Given the description of an element on the screen output the (x, y) to click on. 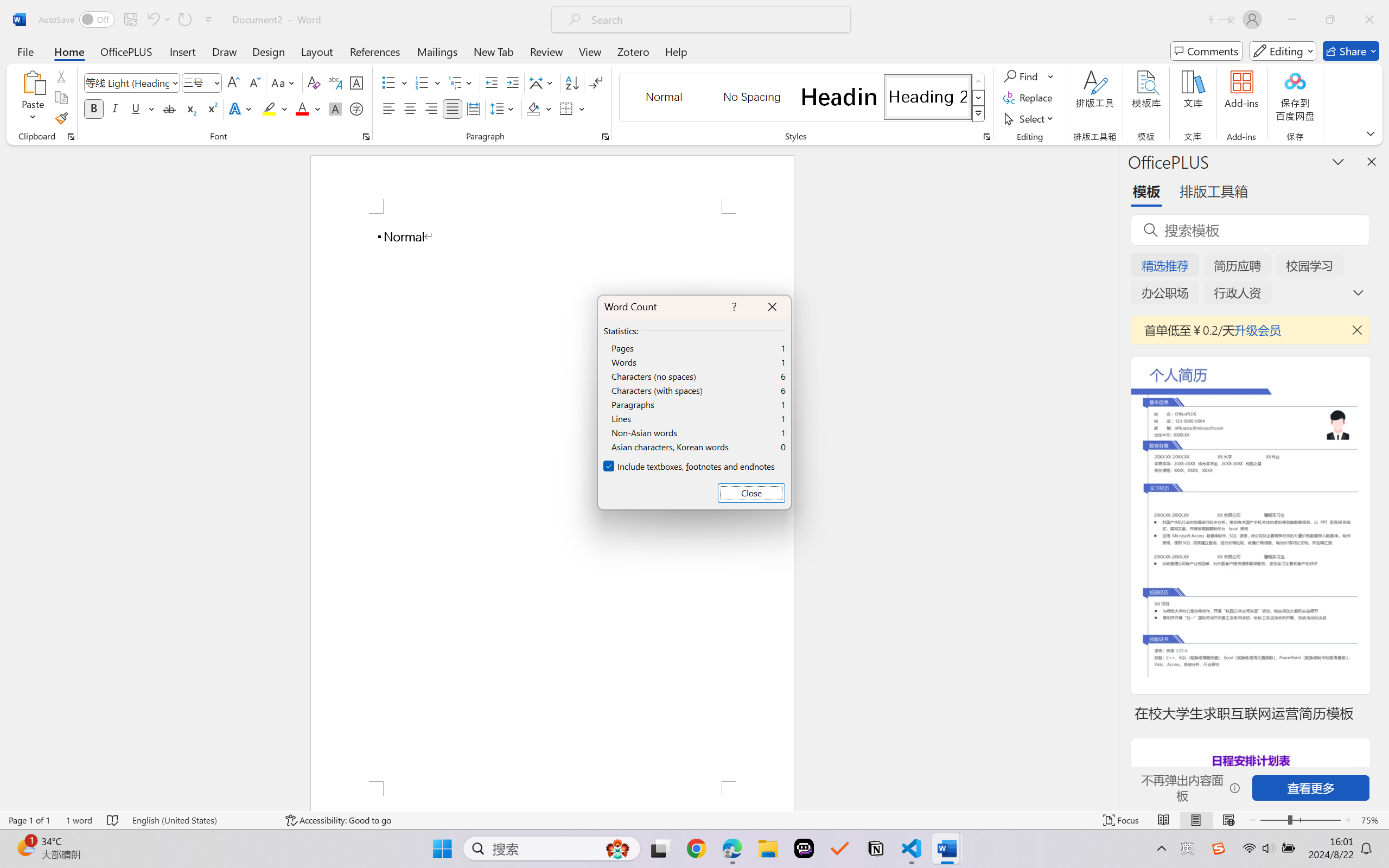
Restore Down (1330, 19)
Row up (978, 81)
Font... (365, 136)
Copy (60, 97)
Comments (1206, 50)
Cut (60, 75)
Grow Font (233, 82)
Select (1030, 118)
AutomationID: QuickStylesGallery (802, 97)
Increase Indent (512, 82)
